Given the description of an element on the screen output the (x, y) to click on. 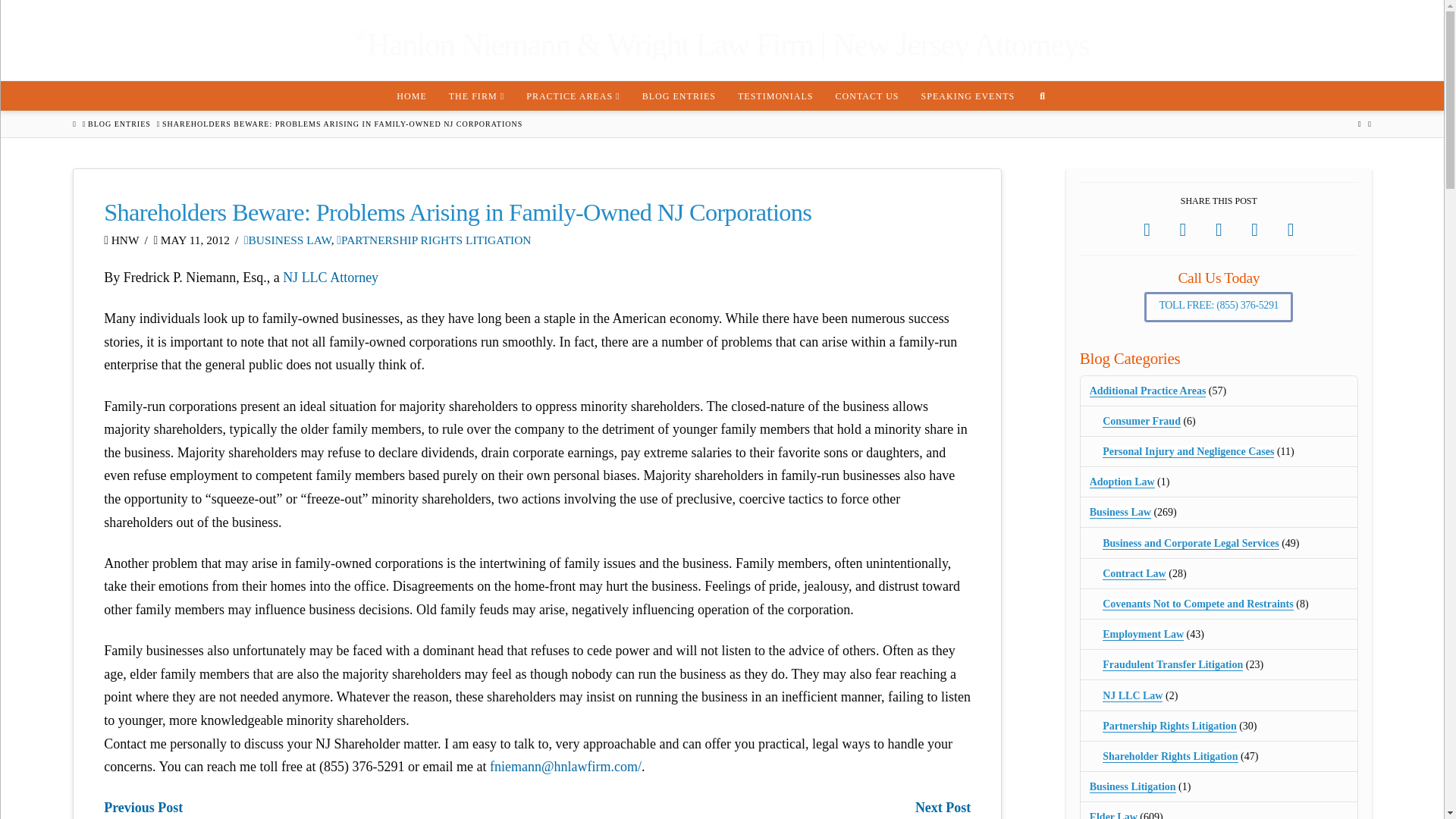
PRACTICE AREAS (572, 95)
Share on Pinterest (1254, 229)
THE FIRM (476, 95)
You Are Here (341, 123)
Share on LinkedIn (1219, 229)
Share via Email (1290, 229)
TESTIMONIALS (775, 95)
CONTACT US (867, 95)
HOME (410, 95)
SPEAKING EVENTS (968, 95)
